Given the description of an element on the screen output the (x, y) to click on. 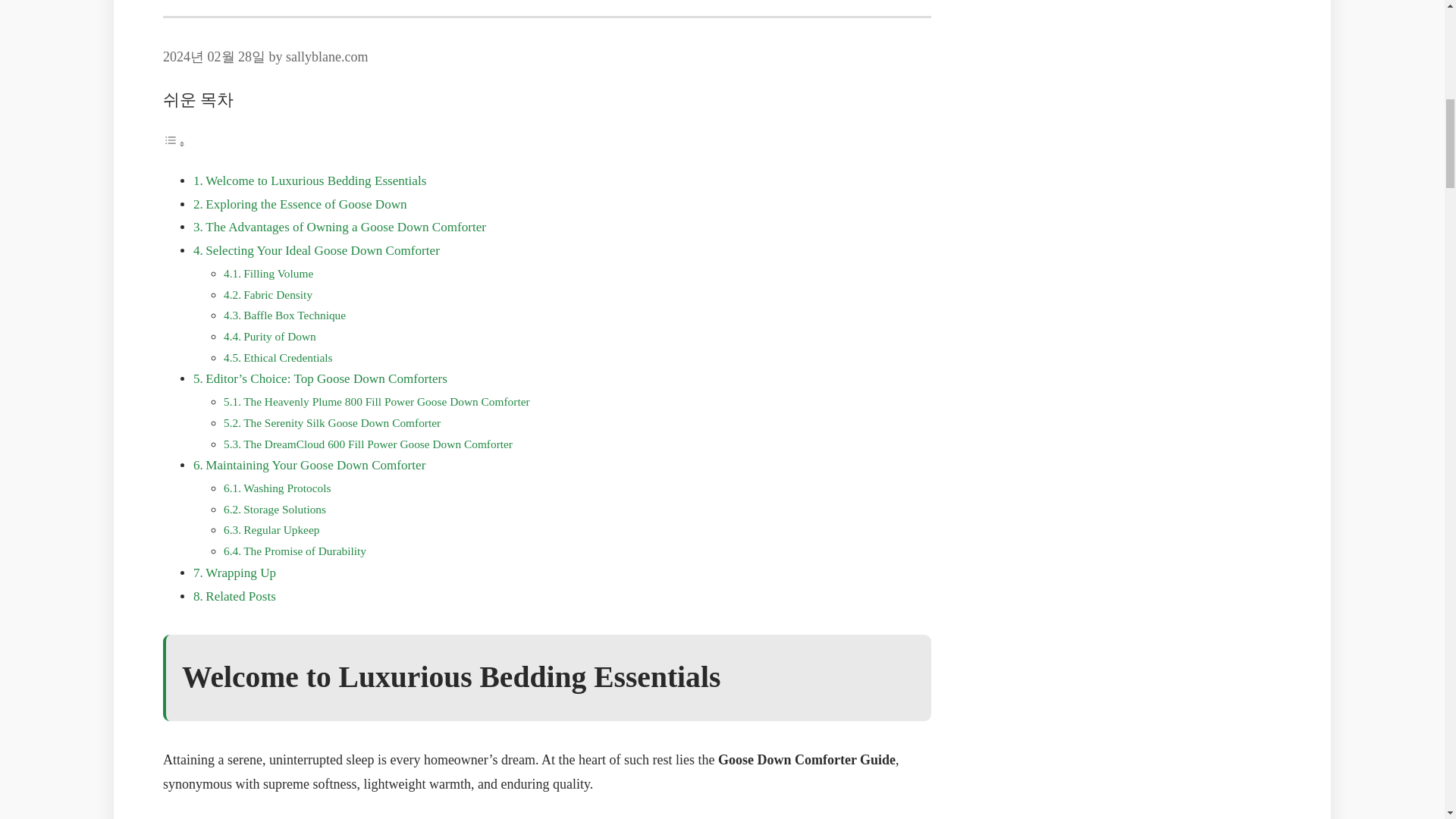
Exploring the Essence of Goose Down (305, 204)
Filling Volume (278, 273)
Selecting Your Ideal Goose Down Comforter (322, 250)
Washing Protocols (286, 487)
Welcome to Luxurious Bedding Essentials (315, 180)
Purity of Down (279, 336)
Maintaining Your Goose Down Comforter (315, 464)
Selecting Your Ideal Goose Down Comforter (322, 250)
Purity of Down (279, 336)
Baffle Box Technique (294, 314)
sallyblane.com (326, 56)
The DreamCloud 600 Fill Power Goose Down Comforter (377, 443)
View all posts by sallyblane.com (326, 56)
Ethical Credentials (287, 357)
The DreamCloud 600 Fill Power Goose Down Comforter (377, 443)
